Given the description of an element on the screen output the (x, y) to click on. 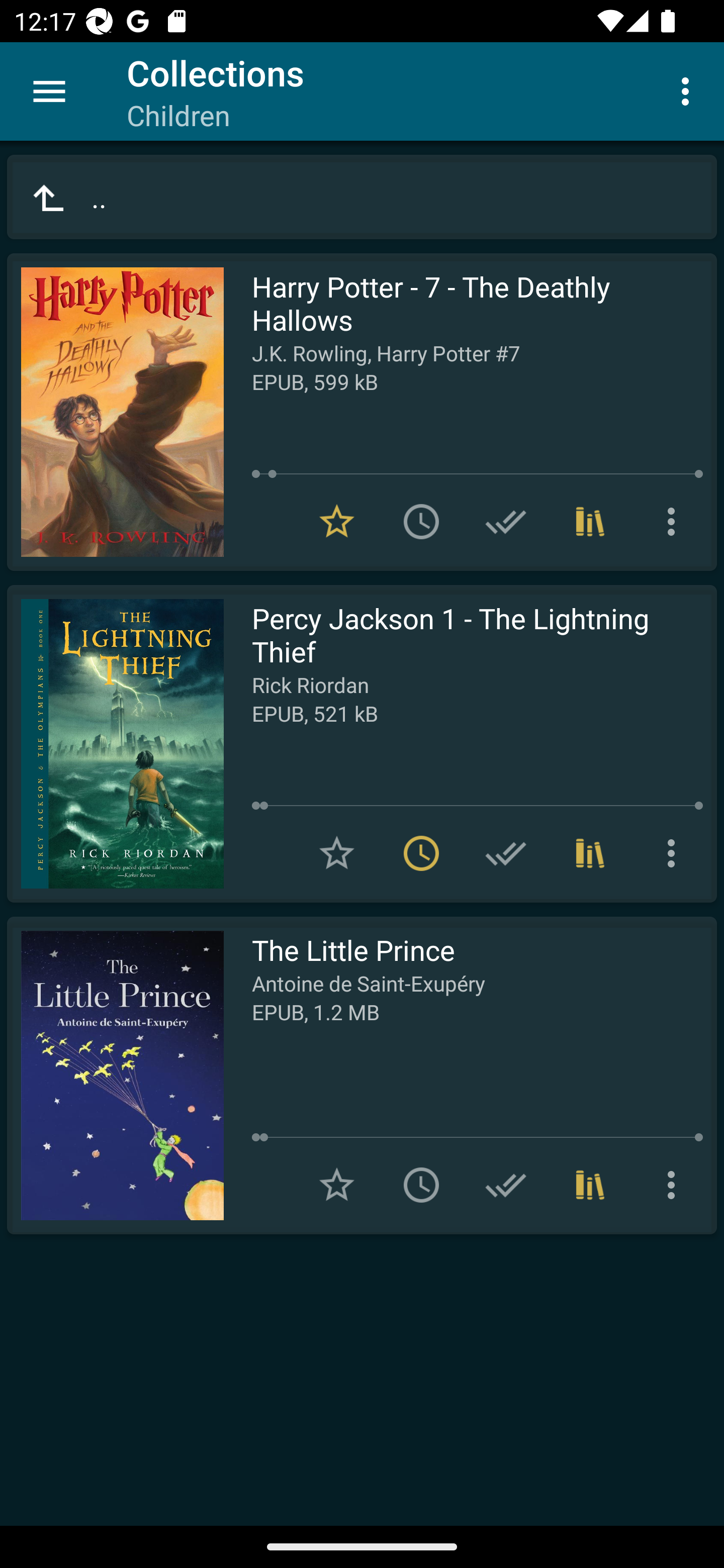
Menu (49, 91)
More options (688, 90)
.. (361, 197)
Read Harry Potter - 7 - The Deathly Hallows (115, 412)
Remove from Favorites (336, 521)
Add to To read (421, 521)
Add to Have read (505, 521)
Collections (1) (590, 521)
More options (674, 521)
Read Percy Jackson 1 - The Lightning Thief (115, 743)
Add to Favorites (336, 852)
Remove from To read (421, 852)
Add to Have read (505, 852)
Collections (1) (590, 852)
More options (674, 852)
Read The Little Prince (115, 1075)
Add to Favorites (336, 1185)
Add to To read (421, 1185)
Add to Have read (505, 1185)
Collections (1) (590, 1185)
More options (674, 1185)
